Given the description of an element on the screen output the (x, y) to click on. 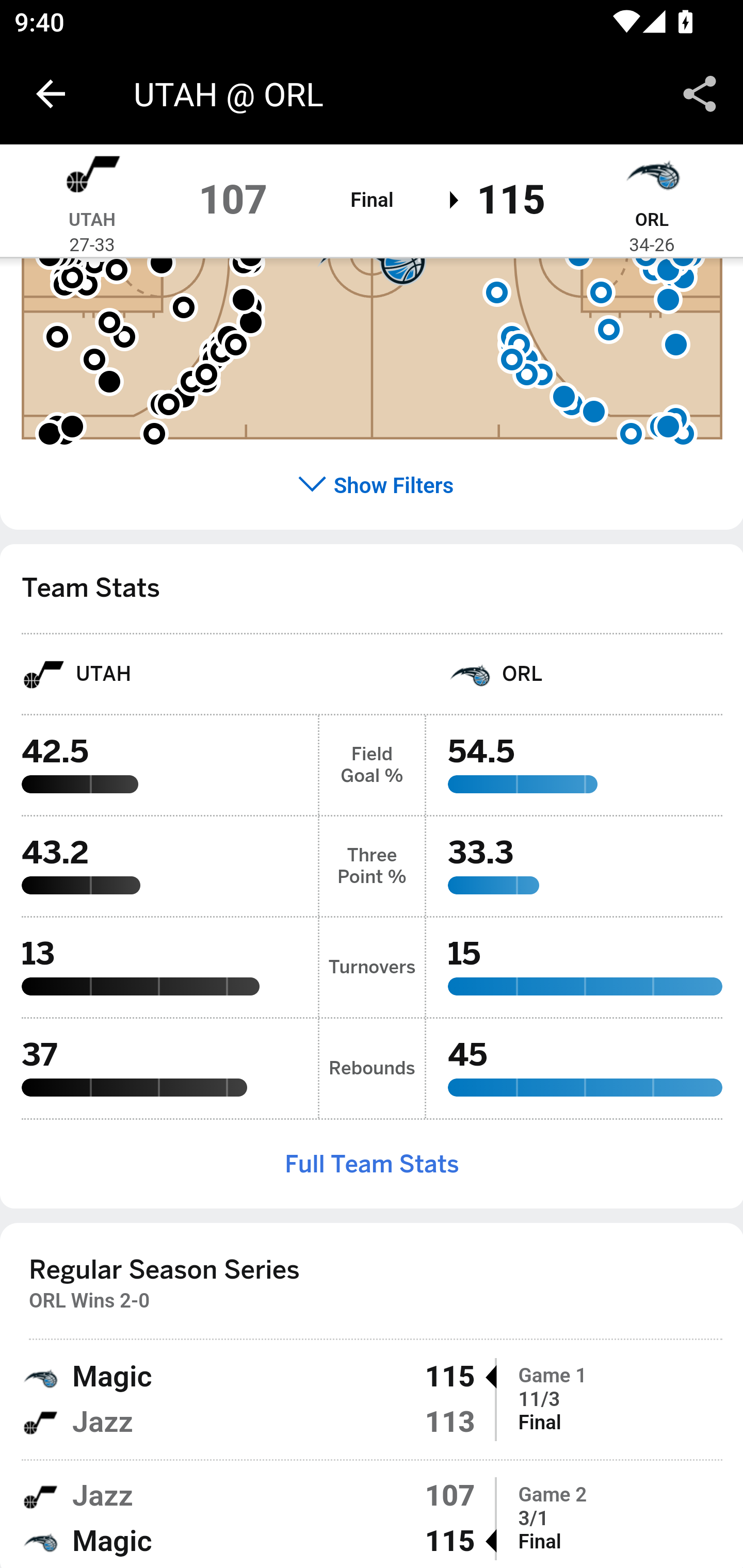
Navigate up (50, 93)
Share (699, 93)
Utah Jazz (91, 177)
Orlando Magic (651, 177)
UTAH (91, 221)
ORL (651, 221)
Show Filters (372, 485)
UTAH (158, 674)
ORL (585, 674)
Full Team Stats (371, 1164)
